Given the description of an element on the screen output the (x, y) to click on. 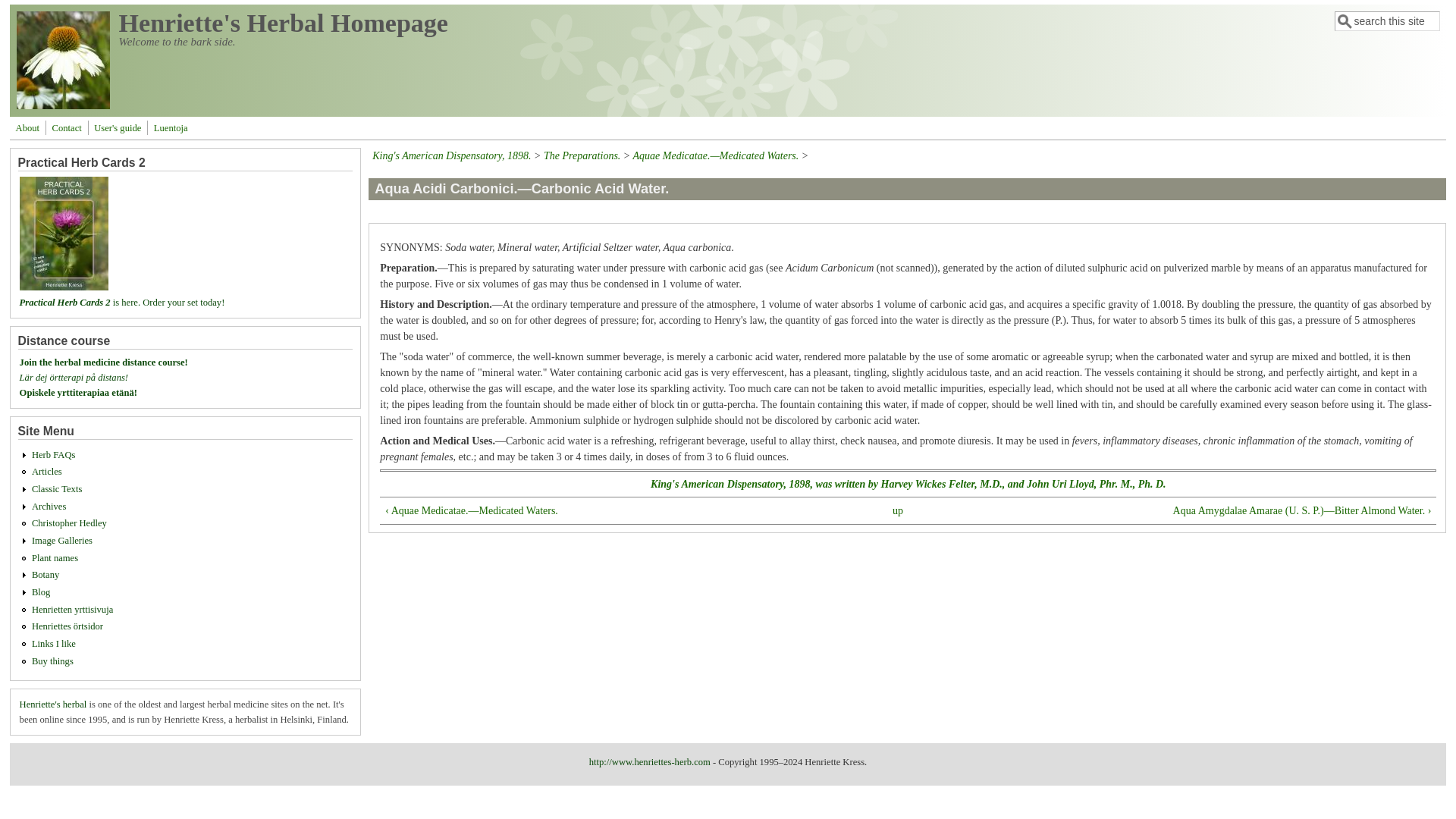
Henriette's herbal blog. (41, 592)
Home (63, 105)
Send me a comment. (66, 128)
History of the site, author bio, etc. (27, 128)
Join the herbal medicine distance course! (103, 362)
Various illustrations and photos, in galleries. (62, 540)
About (27, 128)
Herbal articles. (47, 471)
Go to next page (1211, 510)
